Given the description of an element on the screen output the (x, y) to click on. 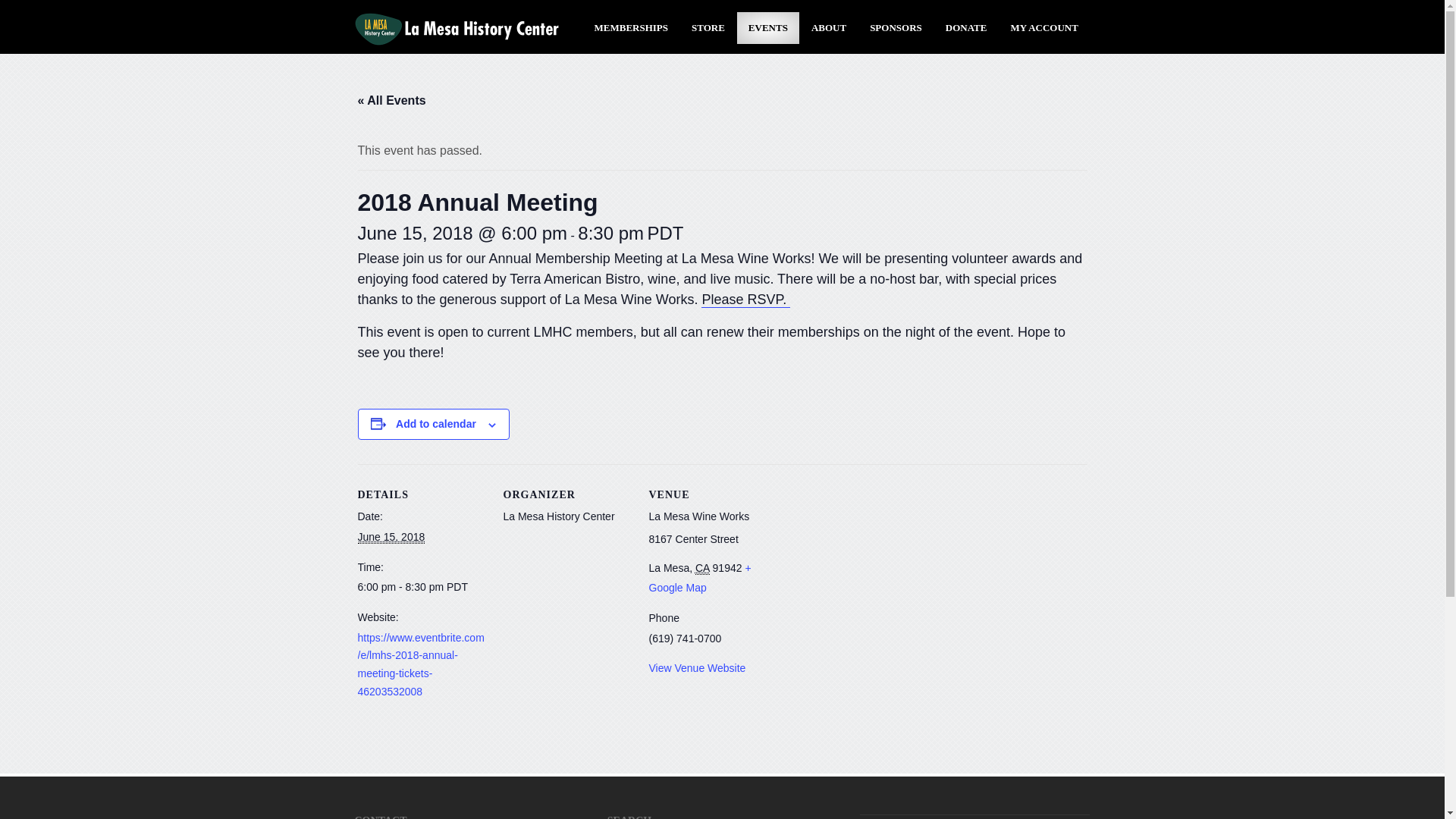
MEMBERSHIPS (630, 28)
Please RSVP.  (745, 299)
Click to view a Google Map (700, 577)
STORE (707, 28)
SPONSORS (896, 28)
DONATE (966, 28)
ABOUT (828, 28)
2018-06-15 (391, 536)
Add to calendar (436, 423)
EVENTS (767, 28)
